Given the description of an element on the screen output the (x, y) to click on. 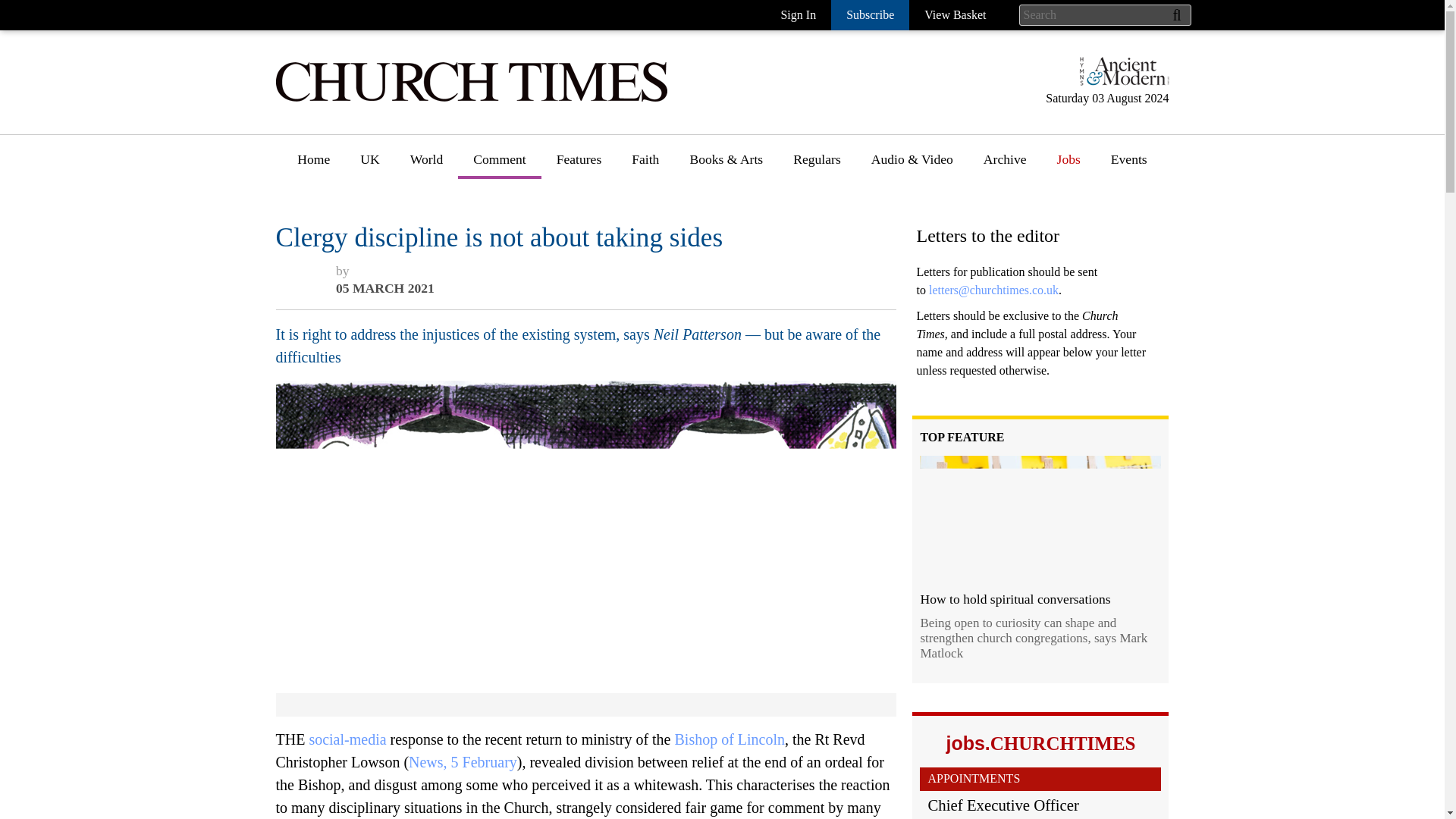
Performing arts (731, 343)
Caption competition (848, 260)
Film (702, 371)
Interviews (585, 232)
Letters to the editor (526, 287)
UK (369, 164)
Week ahead (721, 456)
Columnists (504, 260)
Faith (644, 164)
Cartoons (817, 232)
TV (698, 399)
Crossword (823, 287)
World (426, 164)
Visual arts (718, 287)
Home (313, 164)
